Given the description of an element on the screen output the (x, y) to click on. 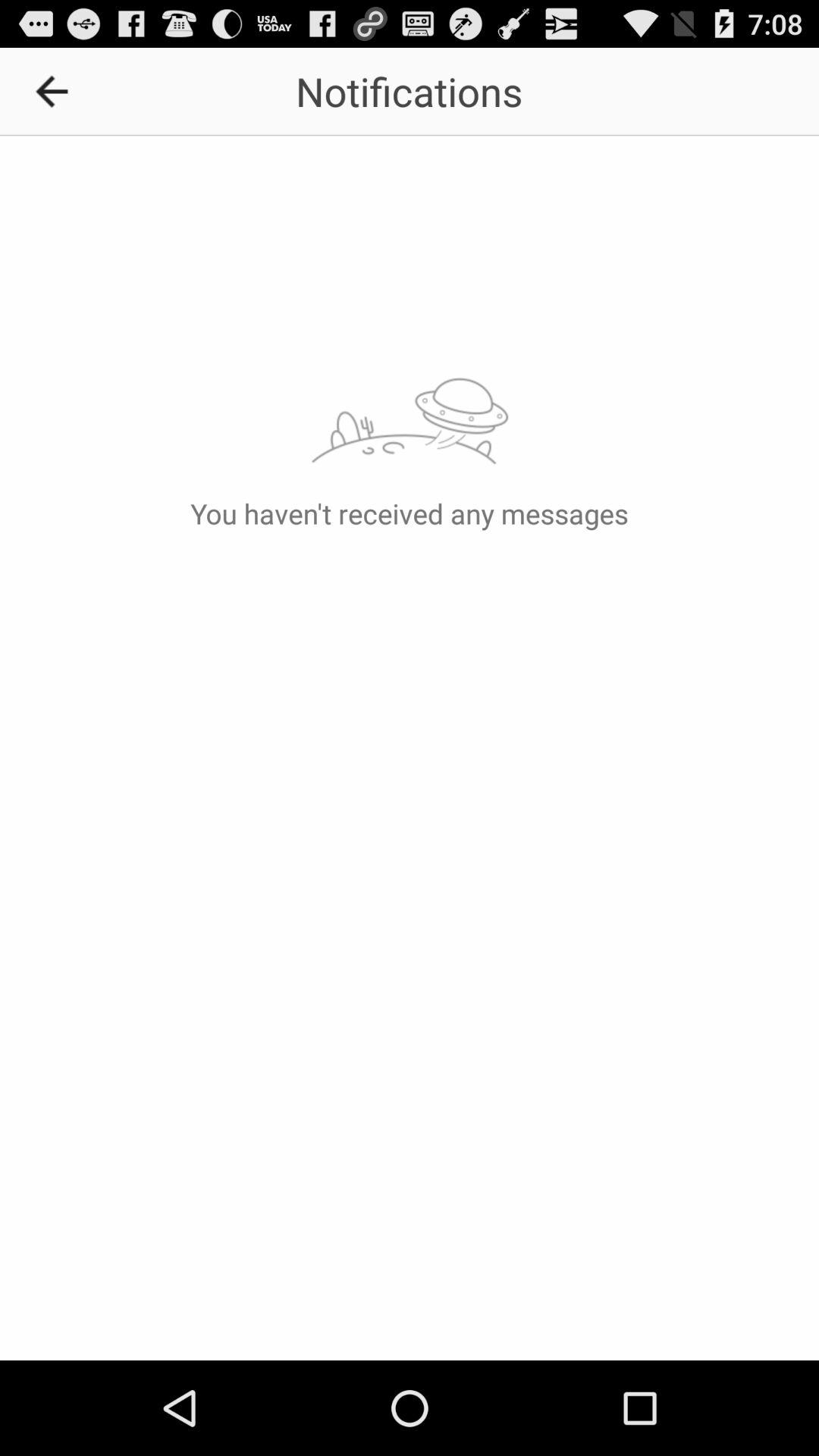
turn on item next to the notifications icon (57, 91)
